Given the description of an element on the screen output the (x, y) to click on. 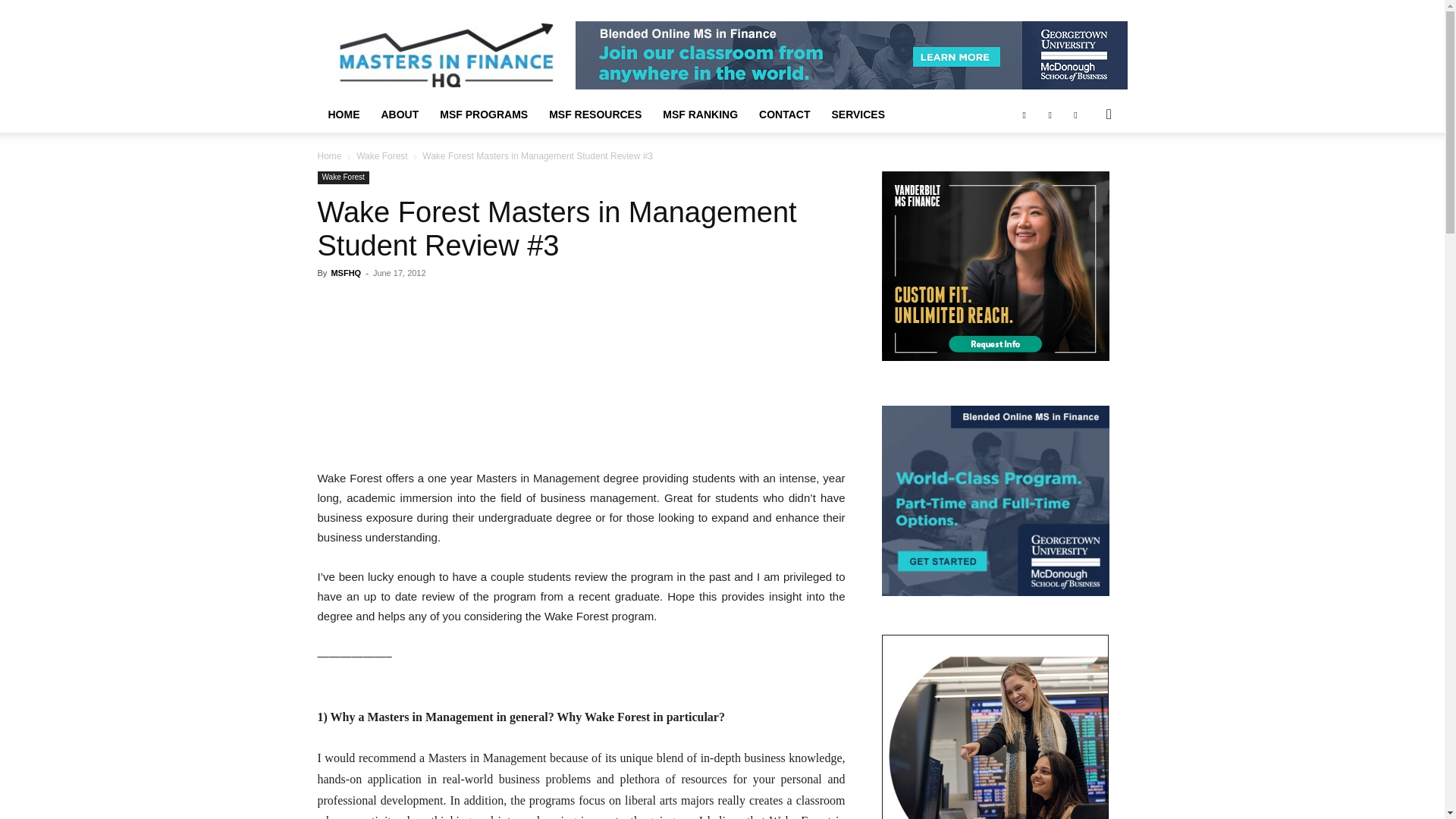
View all posts in Wake Forest (381, 155)
CONTACT (784, 114)
Search (1085, 174)
ABOUT (399, 114)
HOME (343, 114)
Wake Forest (381, 155)
SERVICES (858, 114)
MSF RESOURCES (595, 114)
Wake Forest (342, 177)
Masters in Finance HQ (445, 55)
MSF RANKING (700, 114)
Home (328, 155)
MSF PROGRAMS (483, 114)
MSFHQ (345, 272)
